Given the description of an element on the screen output the (x, y) to click on. 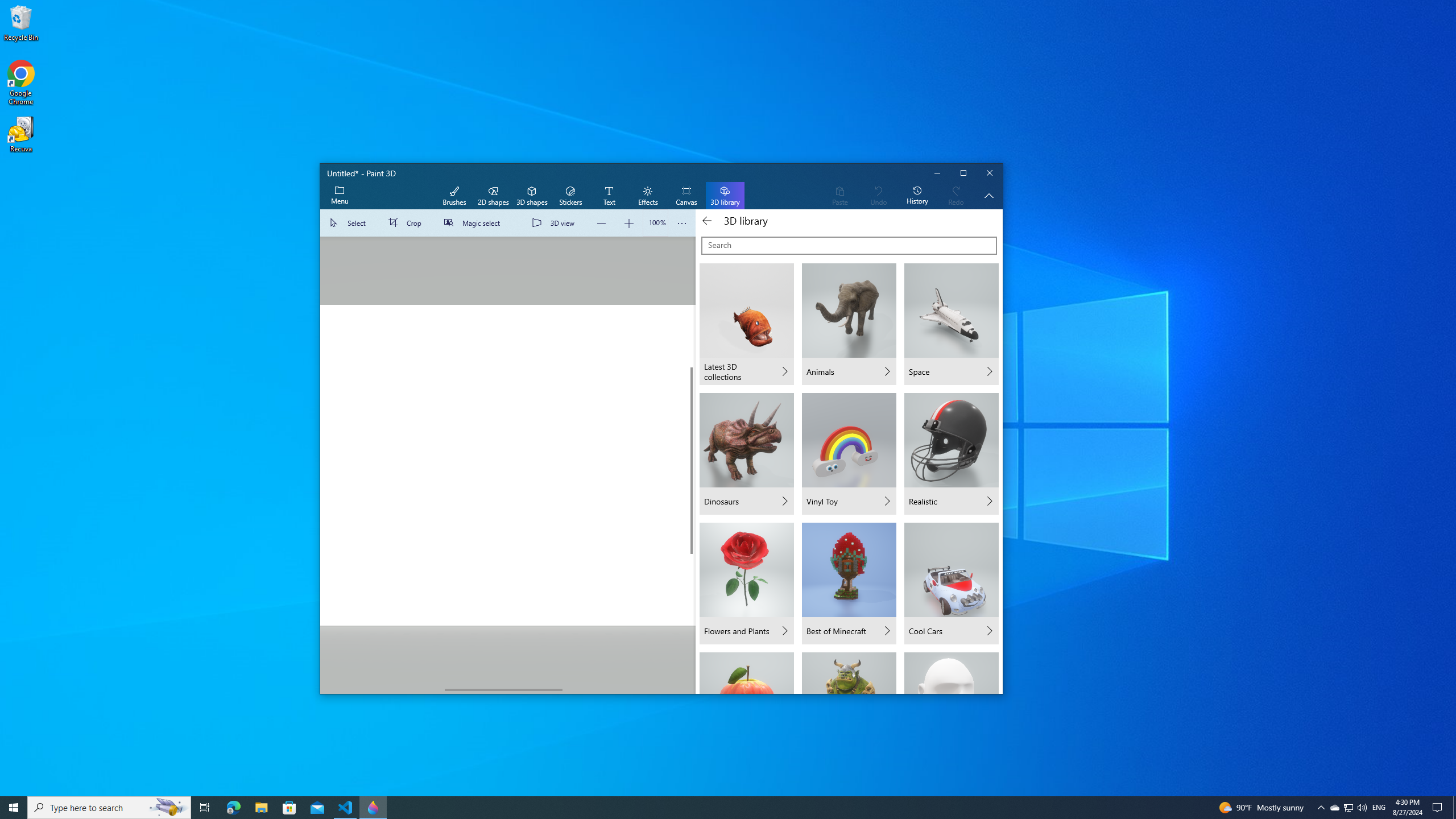
Zoom slider (655, 222)
Food and Drink (746, 672)
3D shapes (531, 195)
Horizontal (503, 689)
Space (951, 323)
Magic select (474, 222)
Vinyl Toy (848, 453)
Running applications (706, 807)
Undo (878, 195)
Flowers and Plants (746, 583)
Stickers (570, 195)
Animals (848, 323)
Characters (848, 672)
